Given the description of an element on the screen output the (x, y) to click on. 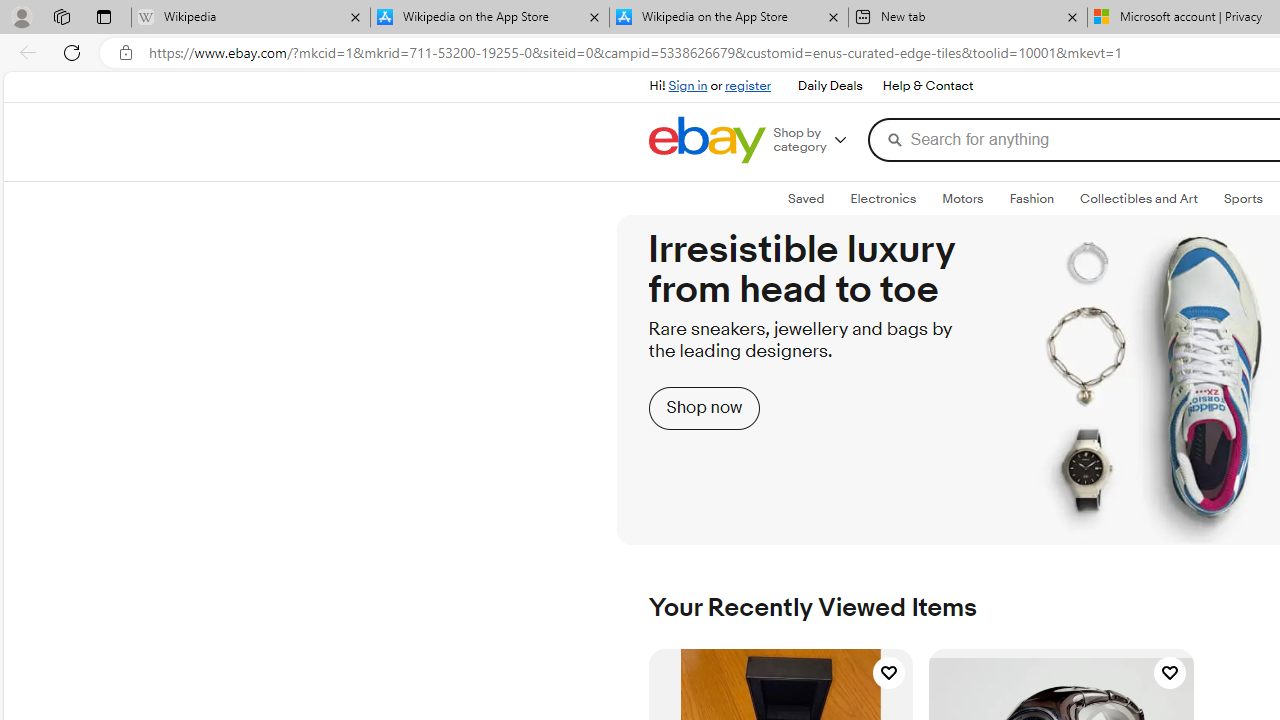
SportsExpand: Sports (1243, 199)
Saved (806, 198)
MotorsExpand: Motors (963, 199)
